Given the description of an element on the screen output the (x, y) to click on. 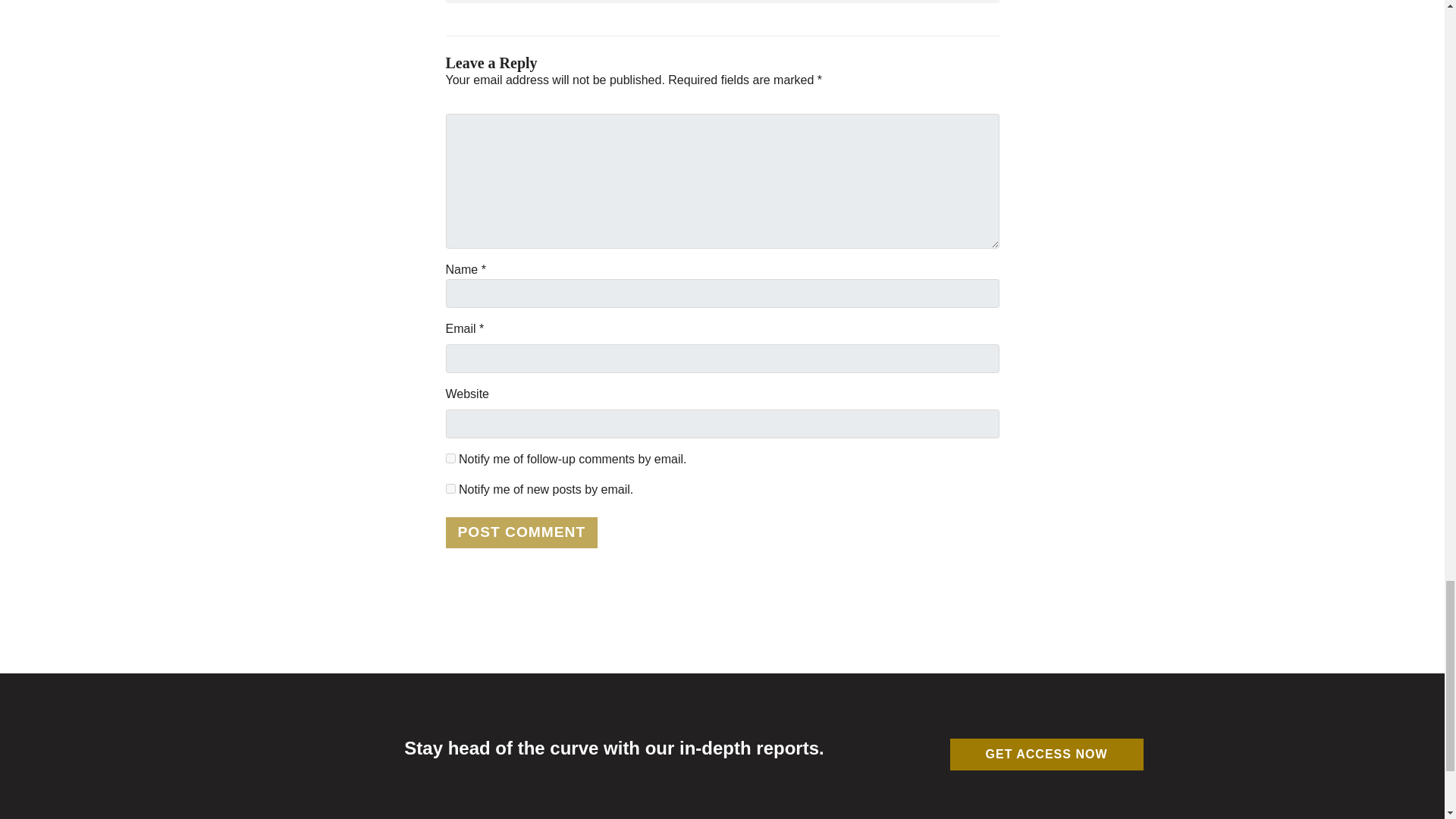
Post Comment (521, 531)
GET ACCESS NOW (1045, 754)
subscribe (450, 488)
subscribe (450, 458)
Post Comment (521, 531)
